Given the description of an element on the screen output the (x, y) to click on. 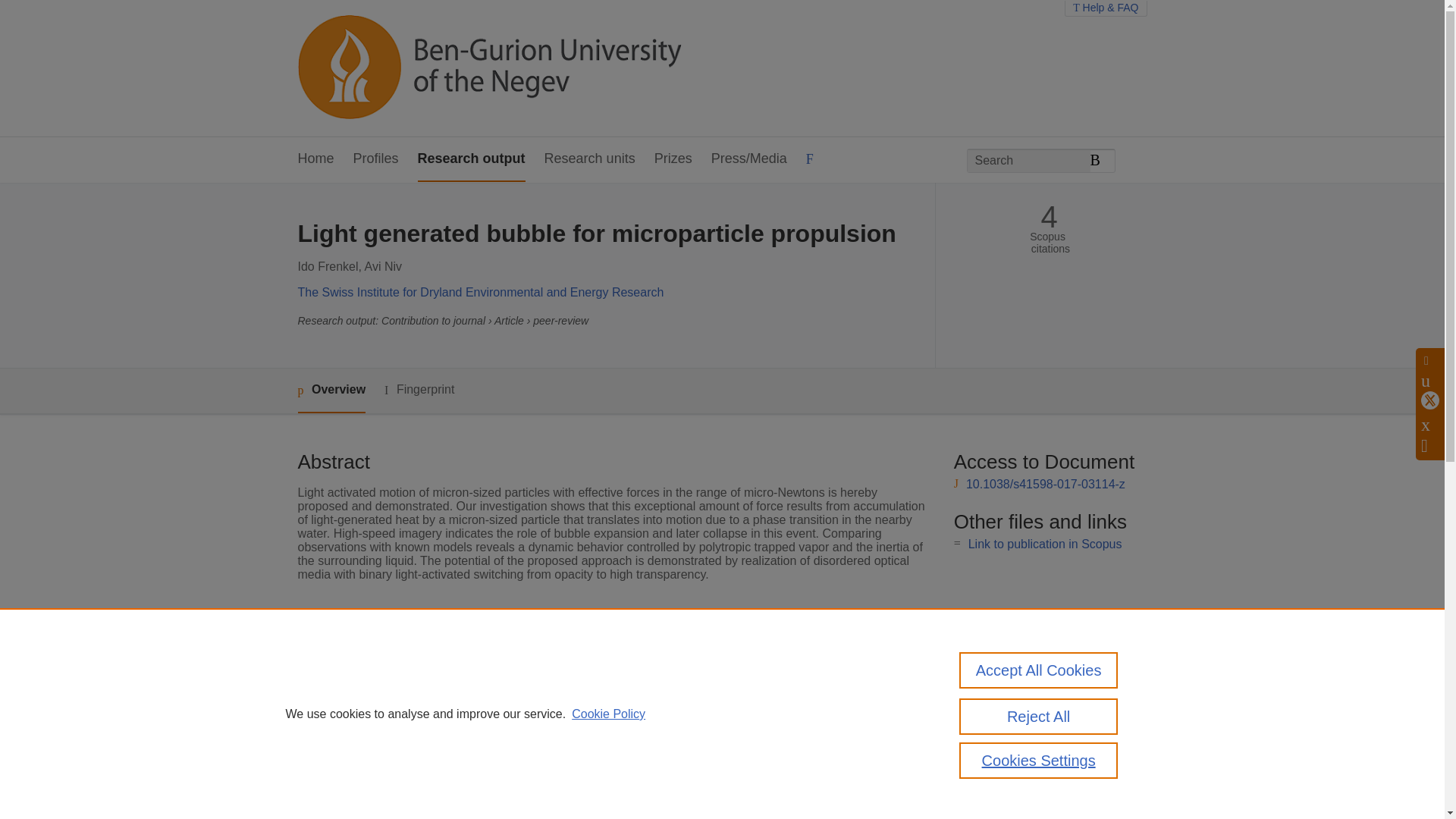
Fingerprint (419, 389)
Research units (589, 159)
Research output (471, 159)
Overview (331, 390)
Profiles (375, 159)
Link to publication in Scopus (1045, 543)
Scientific Reports (557, 647)
Ben-Gurion University Research Portal Home (489, 68)
